Given the description of an element on the screen output the (x, y) to click on. 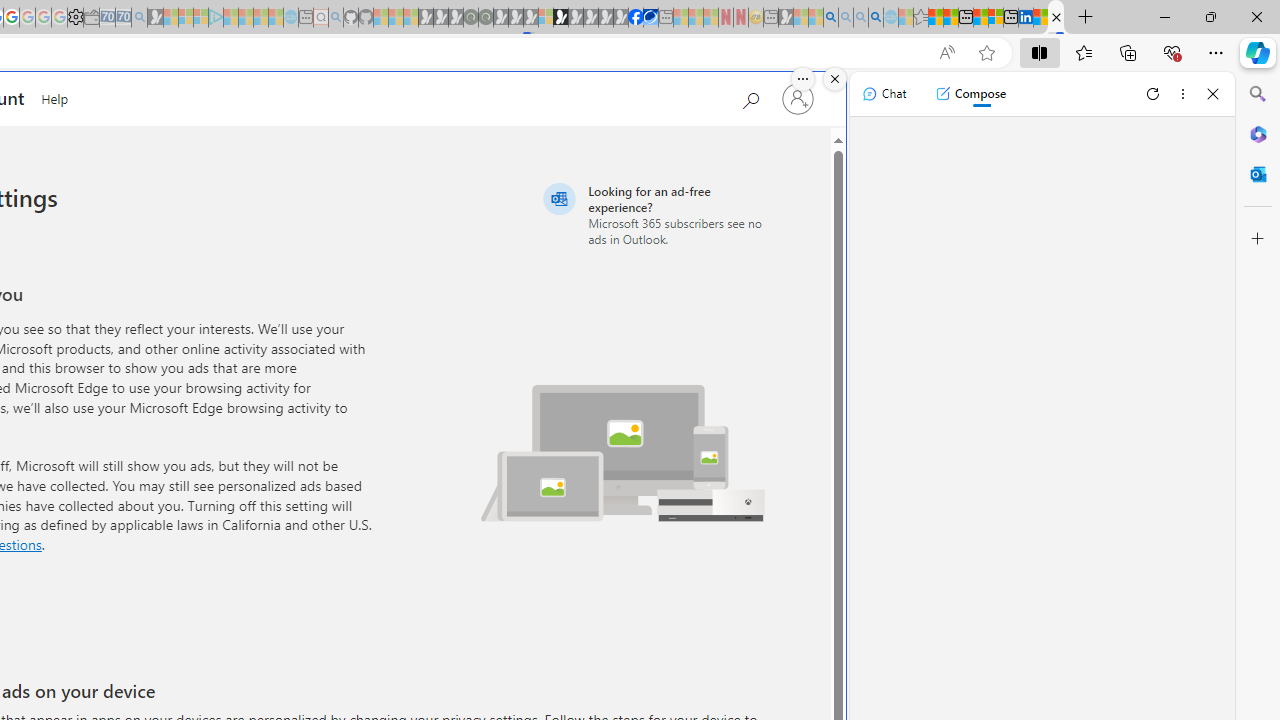
MSN - Sleeping (786, 17)
Home | Sky Blue Bikes - Sky Blue Bikes - Sleeping (291, 17)
LinkedIn (1025, 17)
Help (55, 96)
Illustration of multiple devices (623, 452)
Compose (970, 93)
Microsoft Start Gaming - Sleeping (155, 17)
Nordace | Facebook (635, 17)
Favorites - Sleeping (920, 17)
